Given the description of an element on the screen output the (x, y) to click on. 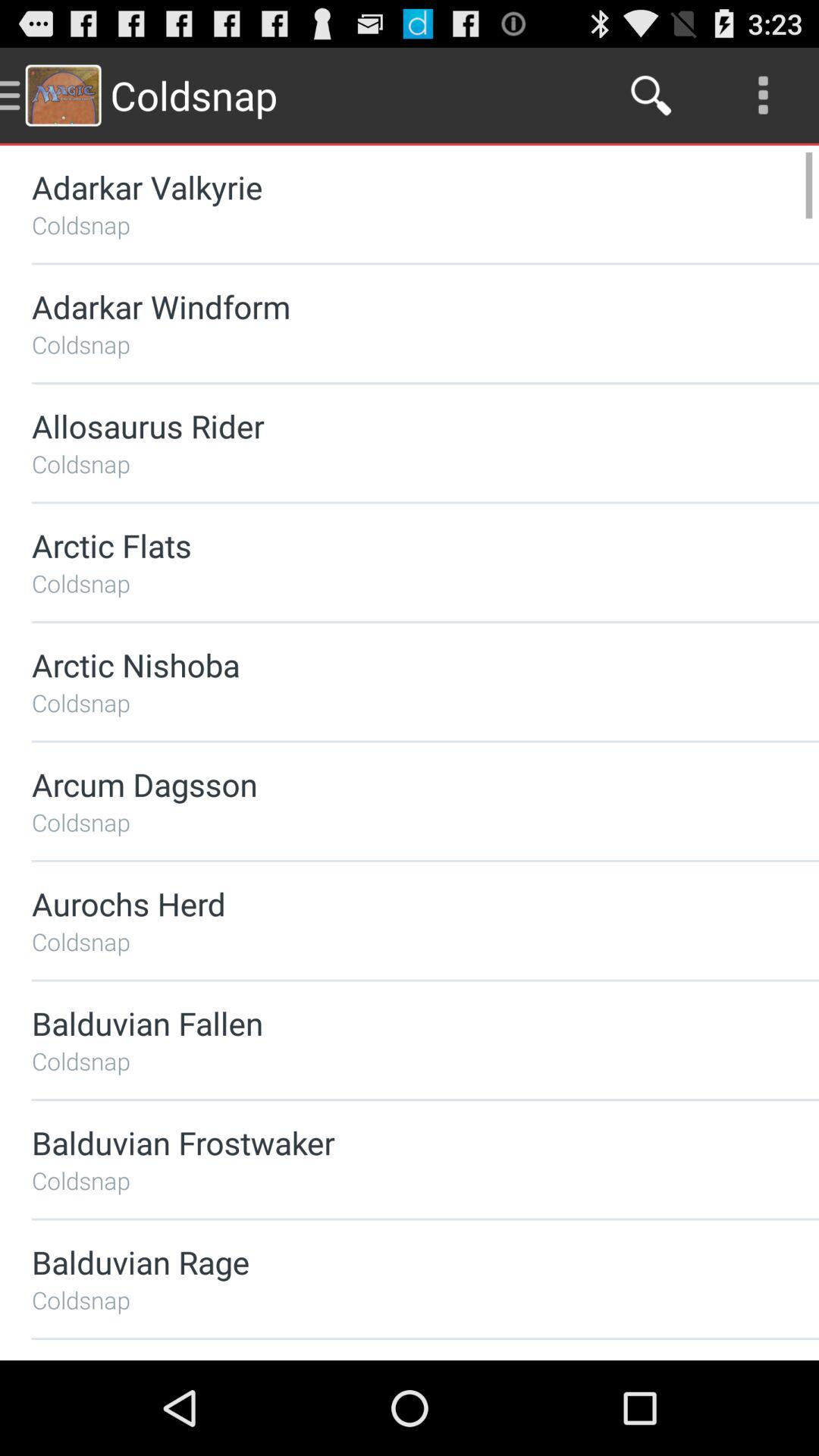
scroll until arctic nishoba app (385, 664)
